Given the description of an element on the screen output the (x, y) to click on. 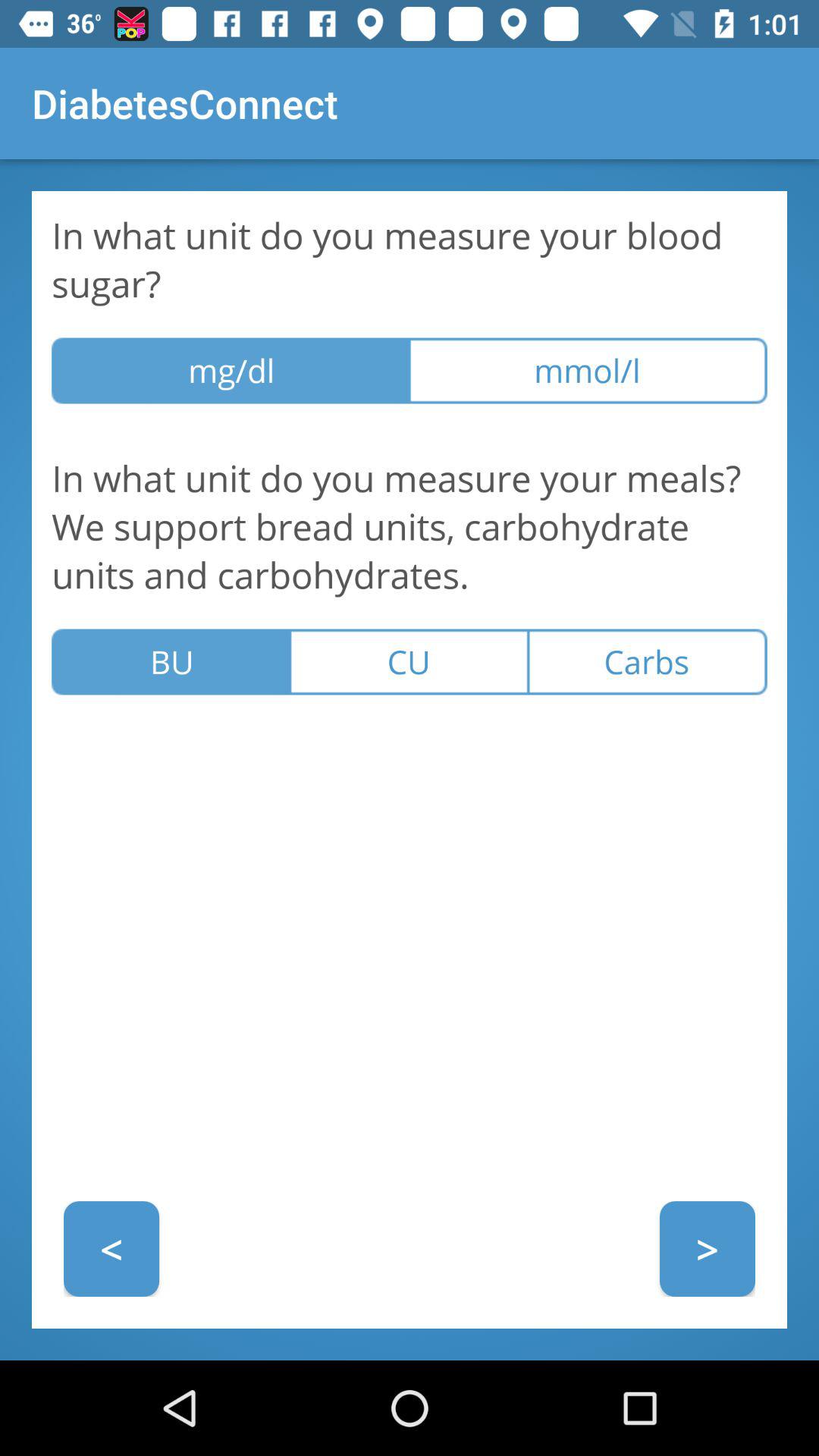
click icon next to the mmol/l item (230, 370)
